Given the description of an element on the screen output the (x, y) to click on. 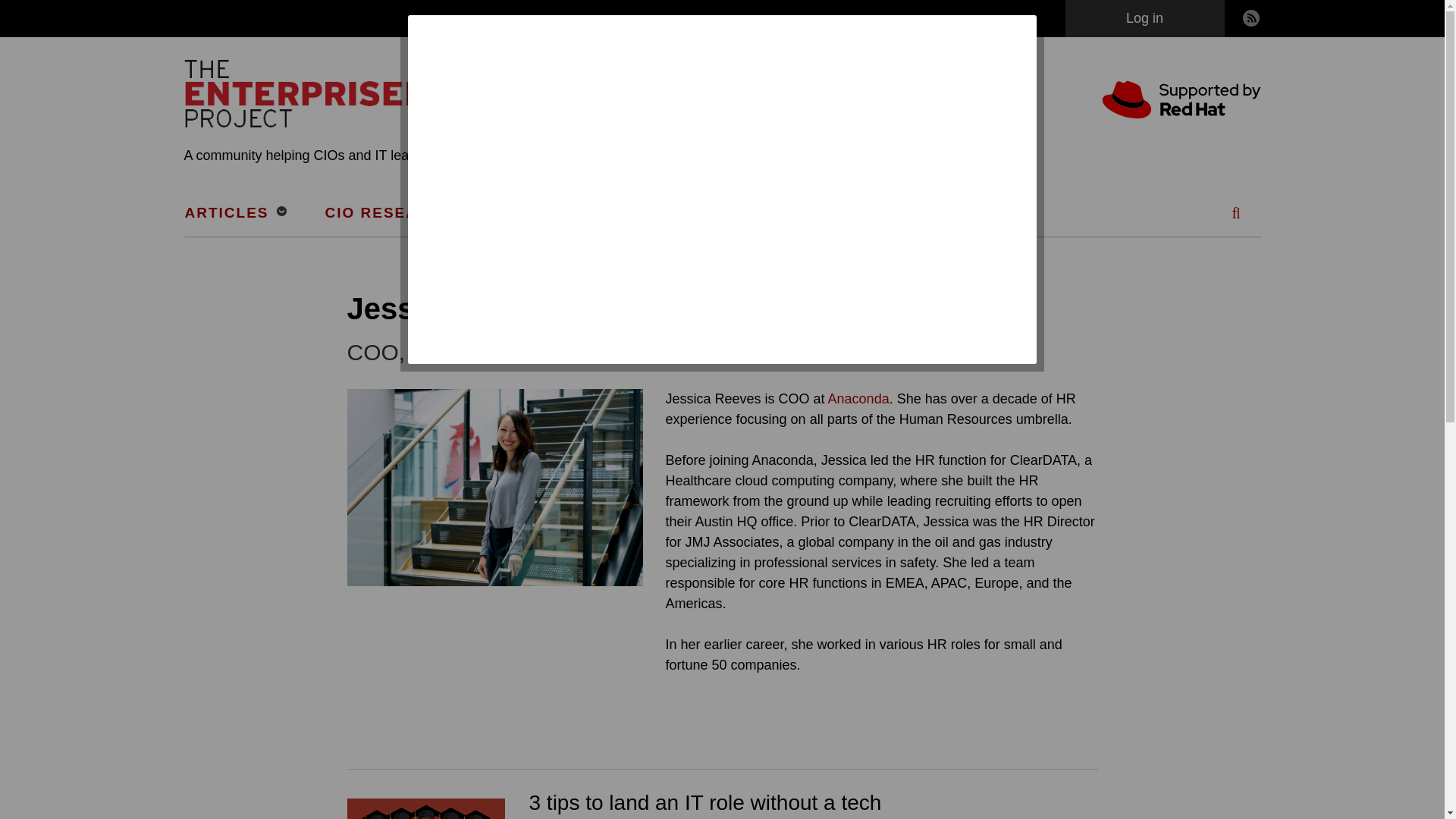
rss (1250, 19)
RSS (1250, 19)
cio role tech degree (426, 808)
WHAT IS AN ENTERPRISER? (635, 213)
Log in (1144, 18)
Anaconda (858, 398)
ABOUT THIS PROJECT (902, 213)
Search (1236, 259)
3 tips to land an IT role without a tech background (705, 805)
ARTICLES (236, 213)
CIO RESEARCH (397, 213)
